Given the description of an element on the screen output the (x, y) to click on. 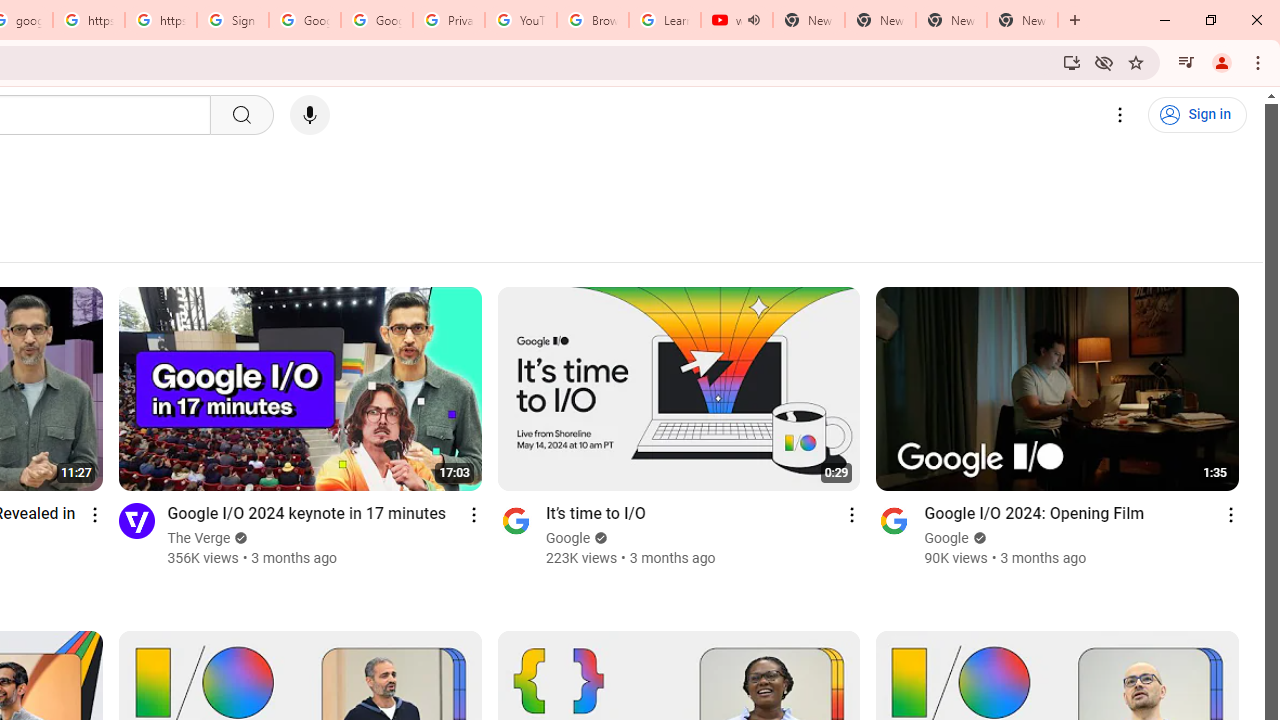
Browse Chrome as a guest - Computer - Google Chrome Help (592, 20)
https://scholar.google.com/ (88, 20)
YouTube (520, 20)
Google (947, 537)
Sign in - Google Accounts (232, 20)
Control your music, videos, and more (1185, 62)
Action menu (1229, 513)
Go to channel (893, 520)
The Verge (198, 537)
